Given the description of an element on the screen output the (x, y) to click on. 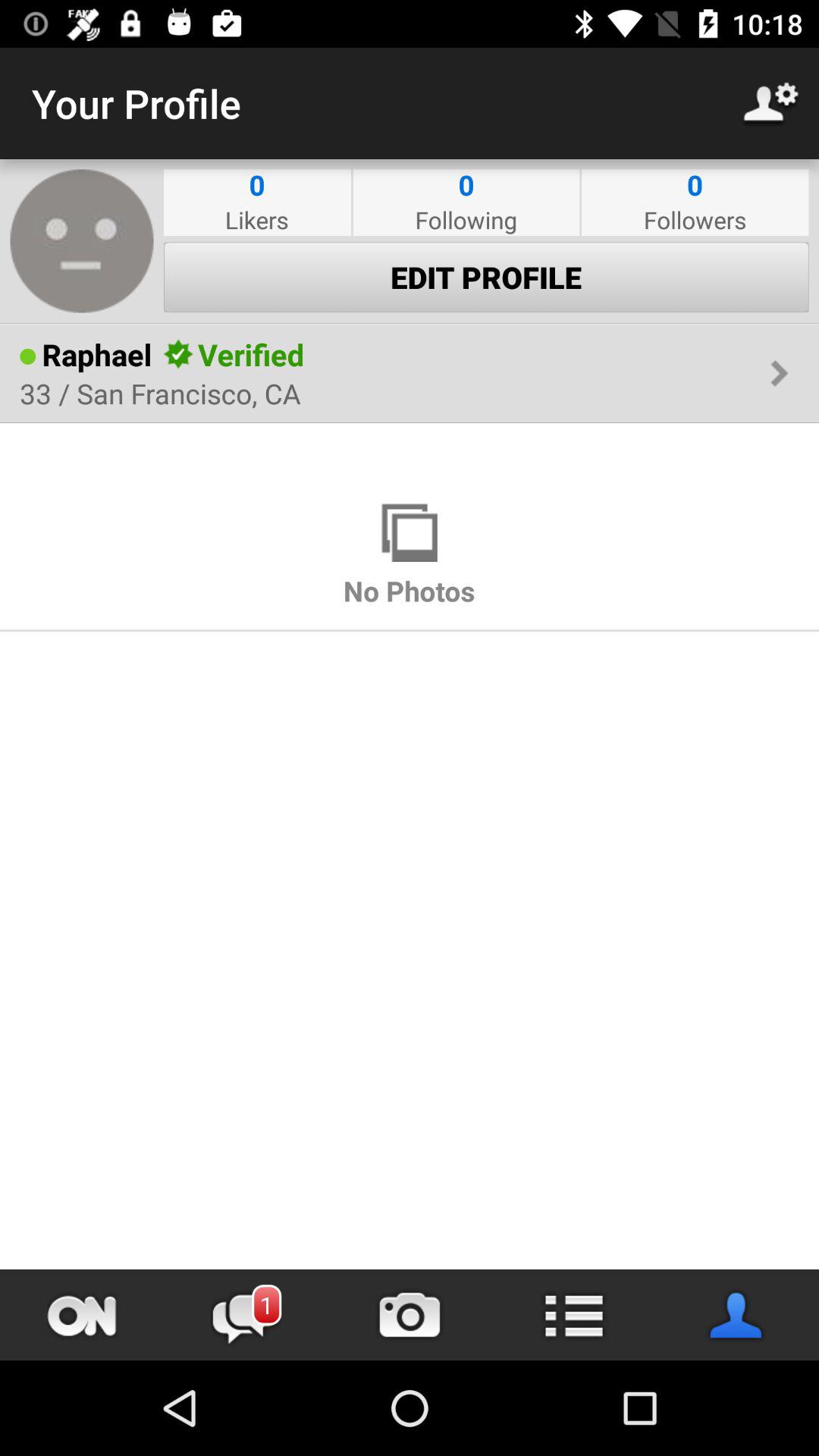
turn on the following item (466, 219)
